Given the description of an element on the screen output the (x, y) to click on. 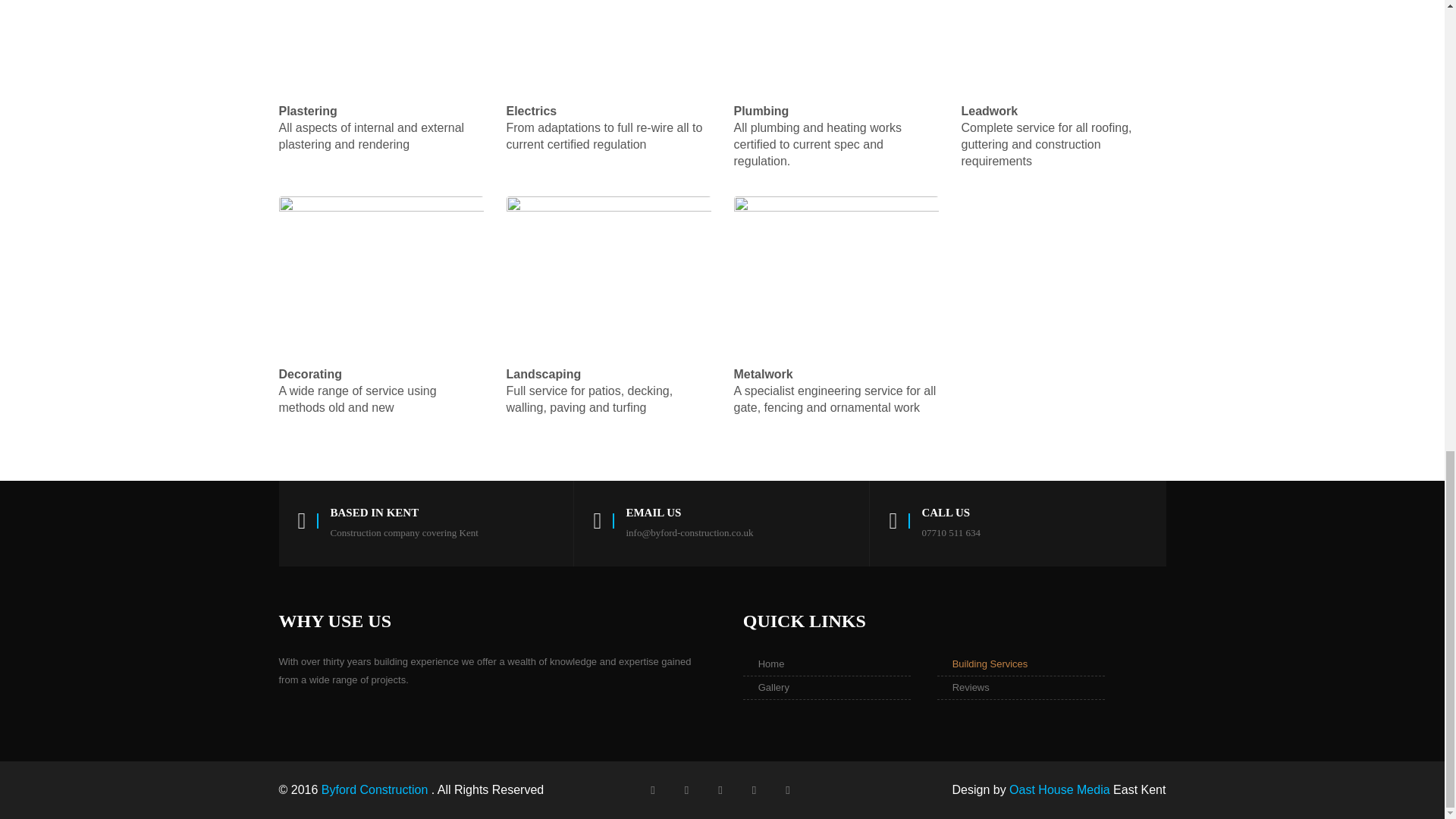
Home (826, 663)
Gallery (826, 687)
Byford Construction (375, 789)
Reviews (1021, 687)
Building Services (1021, 663)
Oast House Media (1059, 789)
